Given the description of an element on the screen output the (x, y) to click on. 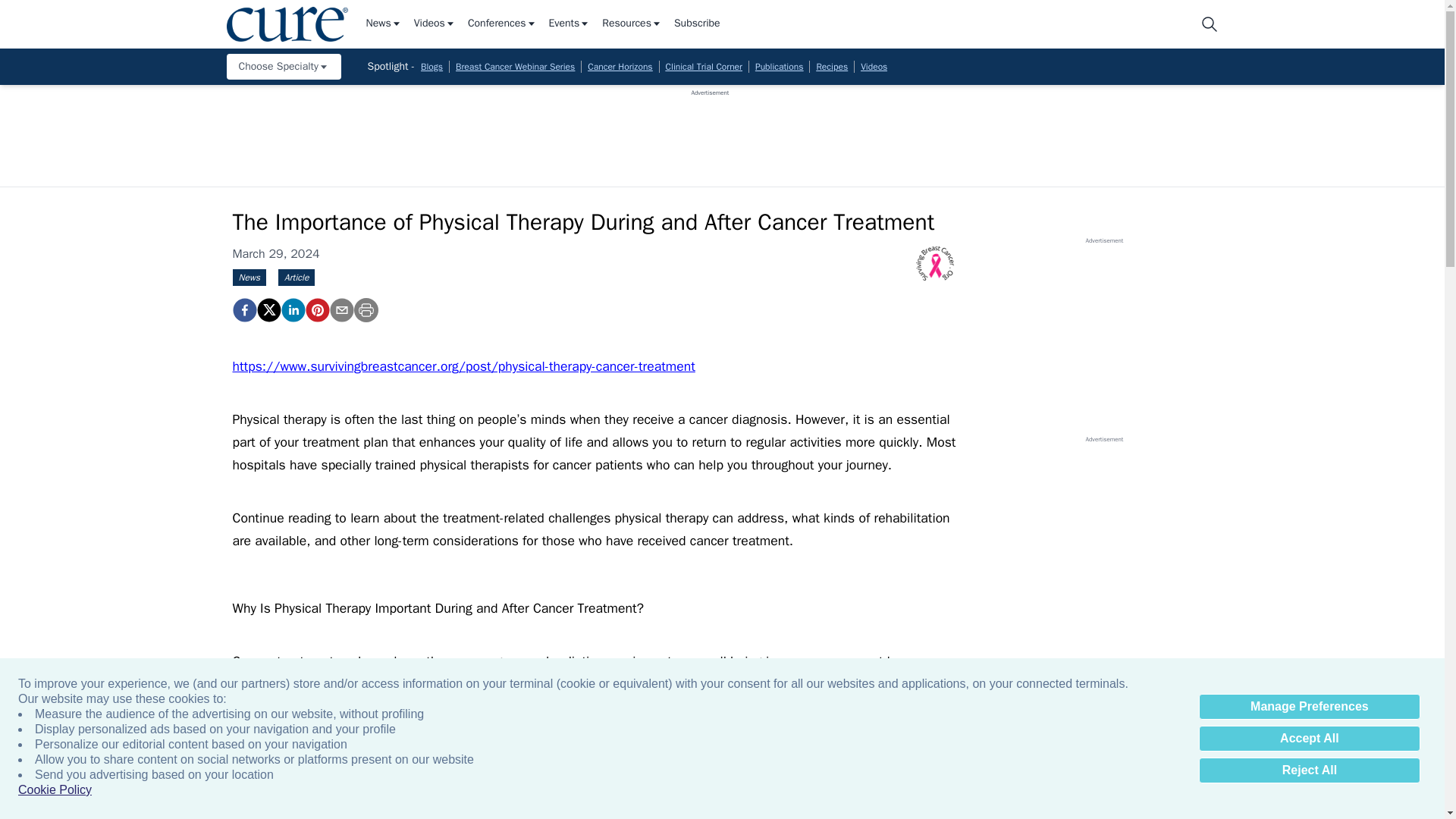
Manage Preferences (1309, 706)
Videos (434, 23)
Events (569, 23)
Conferences (502, 23)
Reject All (1309, 769)
News (383, 23)
3rd party ad content (709, 131)
Accept All (1309, 738)
3rd party ad content (1103, 339)
